Given the description of an element on the screen output the (x, y) to click on. 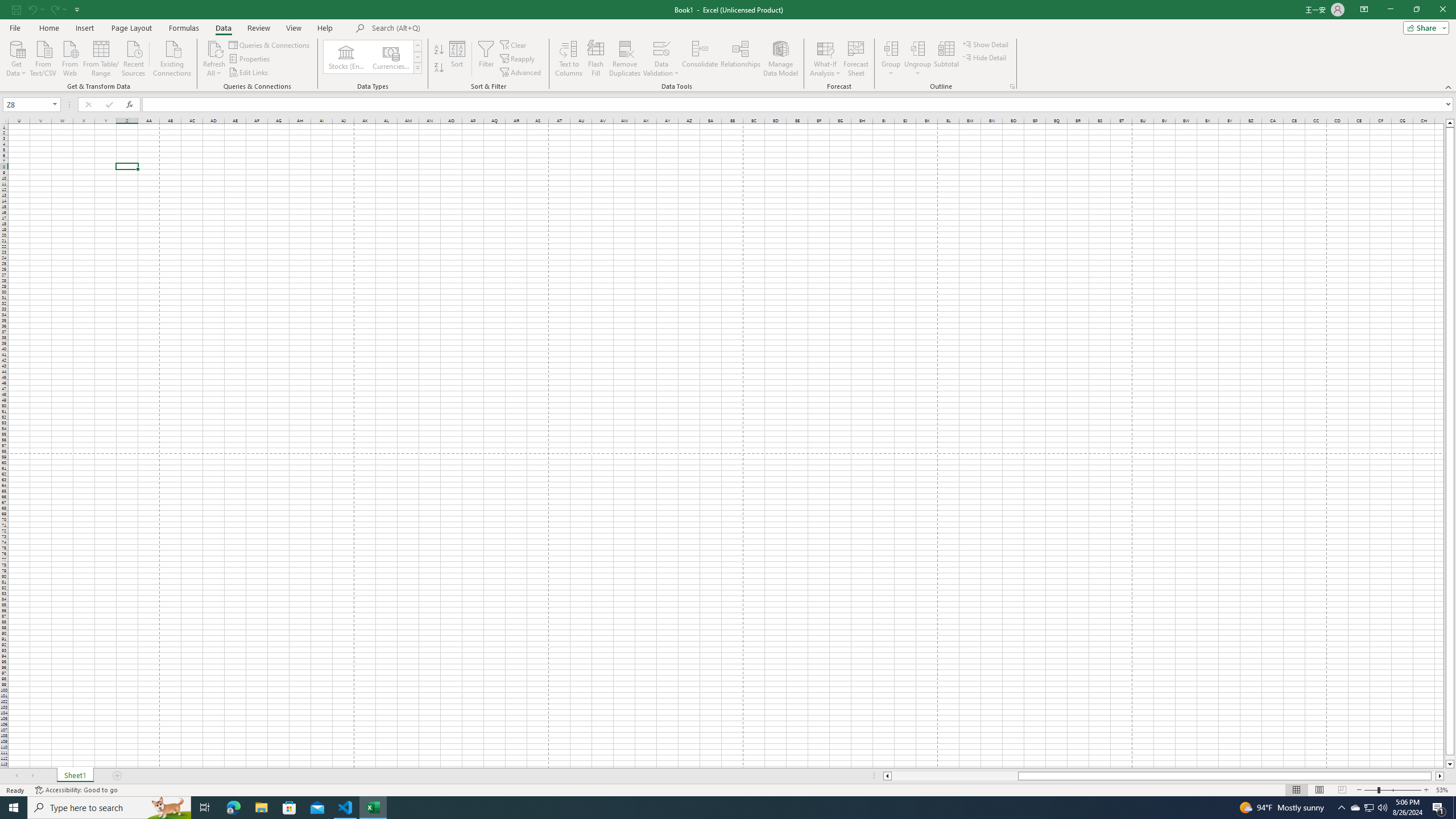
Stocks (English) (346, 56)
Page Break Preview (1342, 790)
Forecast Sheet (856, 58)
View (293, 28)
Zoom (1392, 790)
Recent Sources (133, 57)
Clear (513, 44)
Formula Bar (798, 104)
Group... (890, 58)
Remove Duplicates (625, 58)
Microsoft search (450, 28)
Relationships (740, 58)
Advanced... (520, 72)
Quick Access Toolbar (46, 9)
Existing Connections (171, 57)
